Given the description of an element on the screen output the (x, y) to click on. 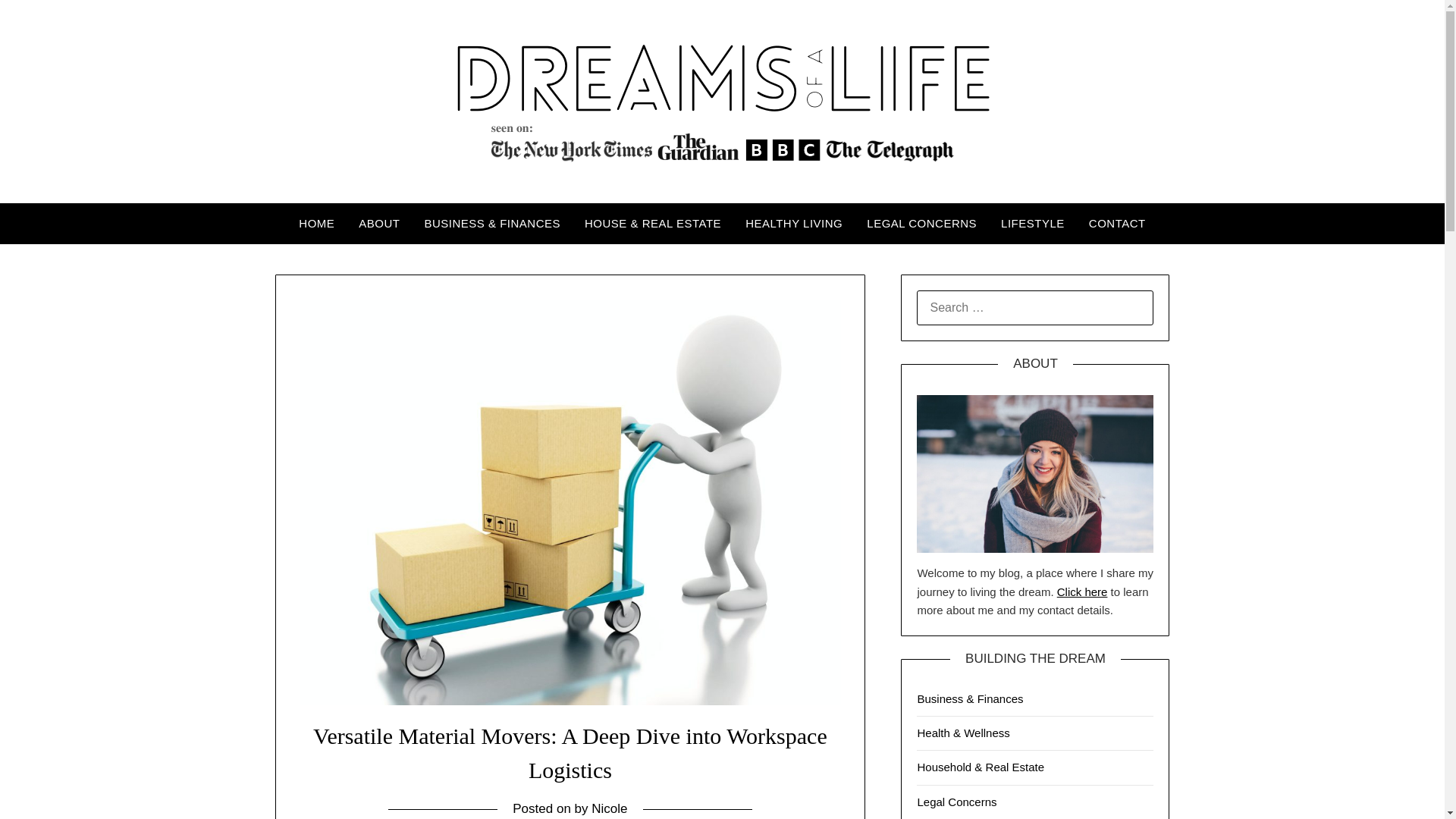
Search (38, 22)
LIFESTYLE (1032, 223)
HEALTHY LIVING (793, 223)
Click here (1082, 591)
ABOUT (379, 223)
HOME (316, 223)
LEGAL CONCERNS (921, 223)
Legal Concerns (956, 801)
CONTACT (1117, 223)
Nicole (609, 808)
